Given the description of an element on the screen output the (x, y) to click on. 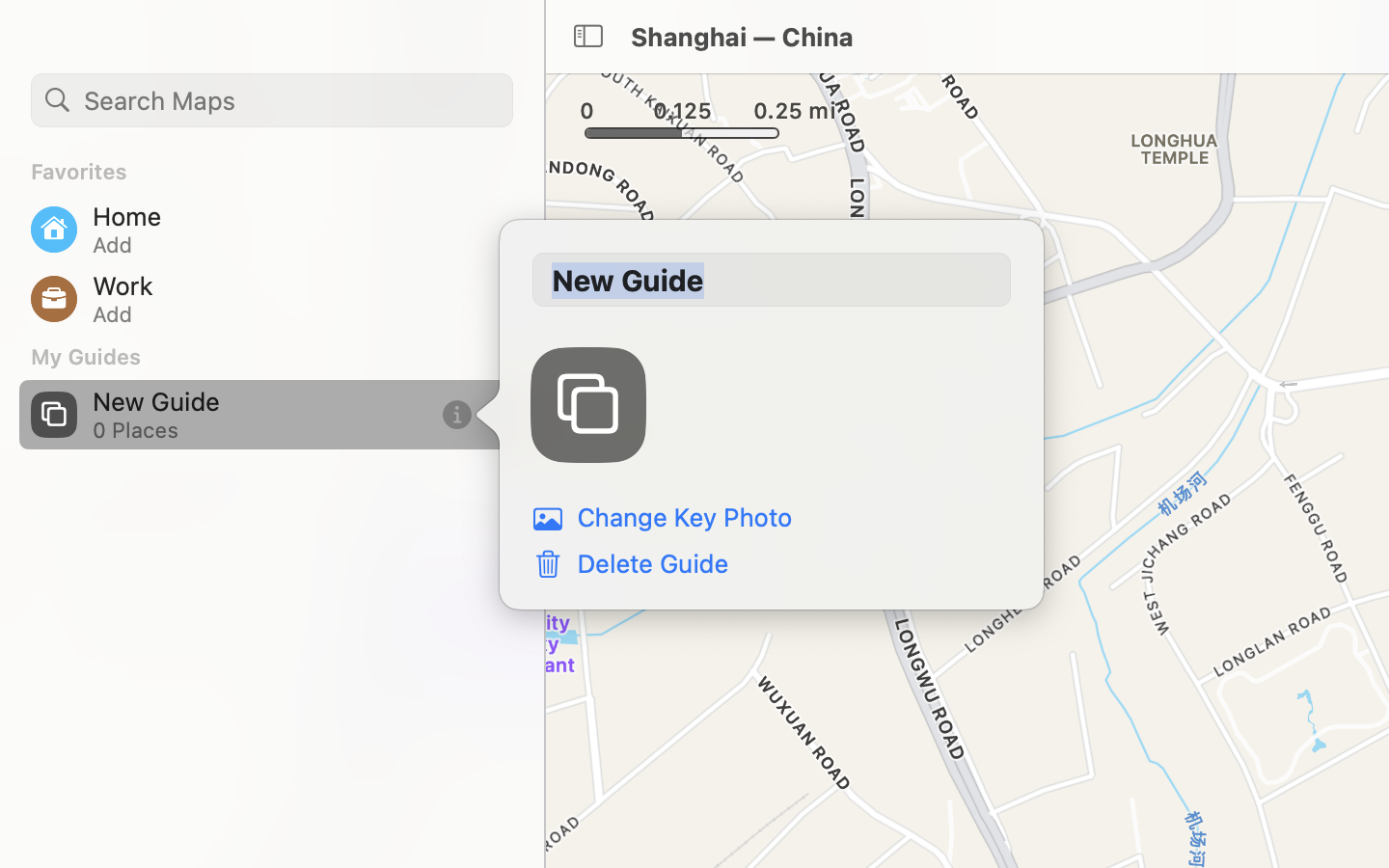
New Guide Element type: AXTextField (771, 279)
